Given the description of an element on the screen output the (x, y) to click on. 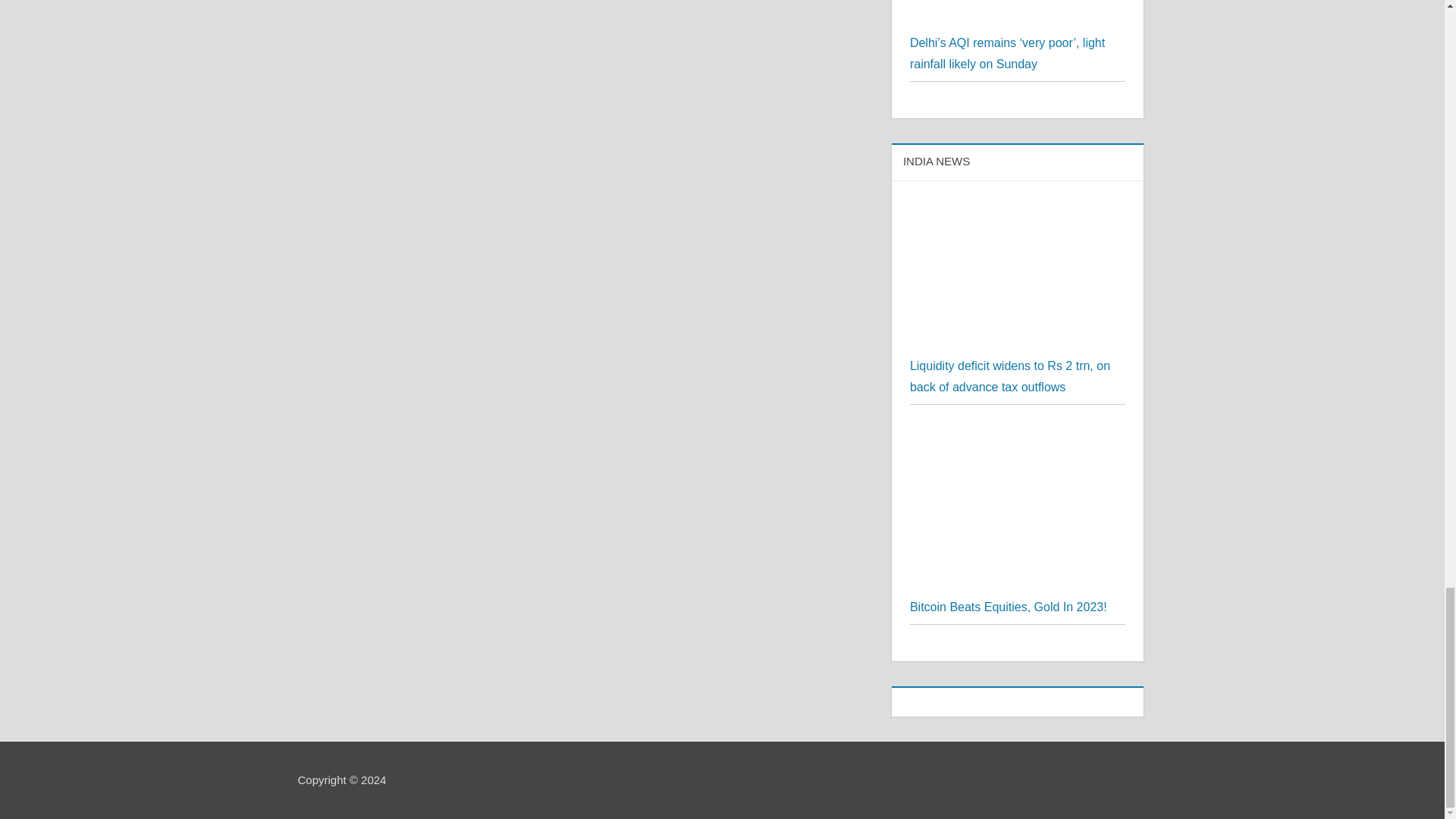
Bitcoin Beats Equities, Gold In 2023! (1017, 432)
Bitcoin Beats Equities, Gold In 2023! (1008, 606)
